Given the description of an element on the screen output the (x, y) to click on. 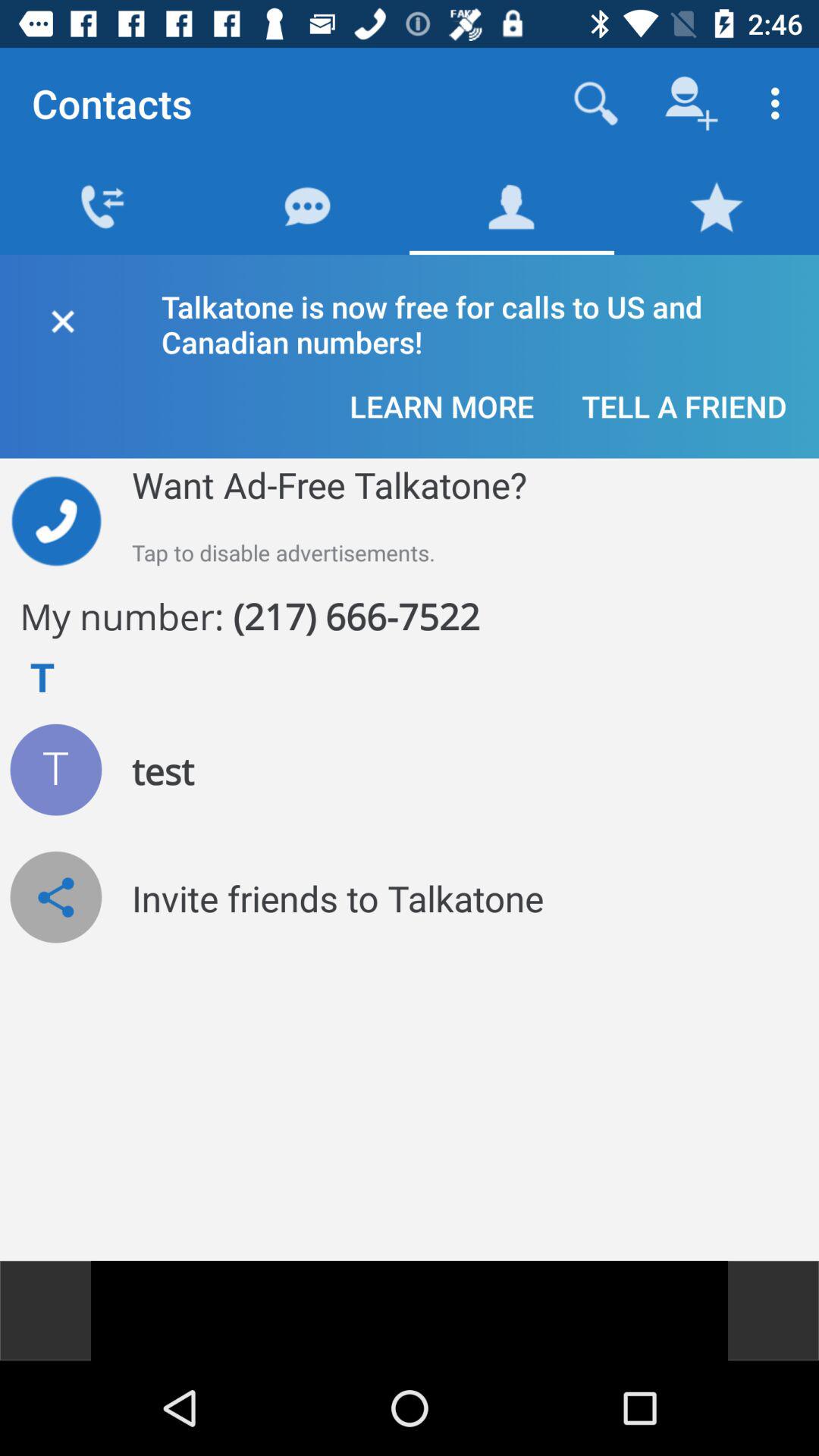
go to search (595, 103)
